Given the description of an element on the screen output the (x, y) to click on. 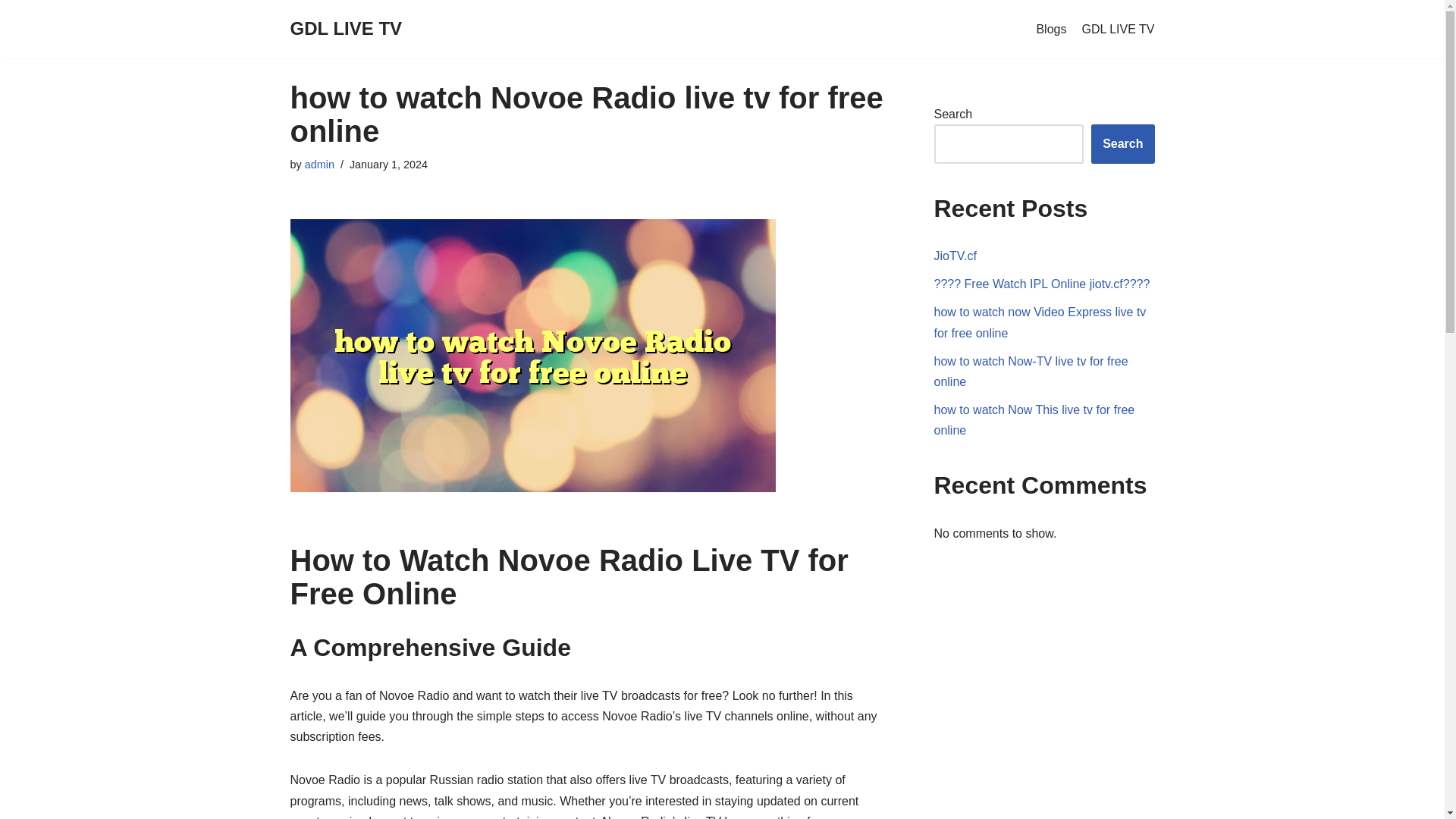
Posts by admin (319, 164)
GDL LIVE TV (345, 29)
JioTV.cf (955, 255)
???? Free Watch IPL Online jiotv.cf???? (1042, 283)
Blogs (1050, 29)
how to watch Now This live tv for free online (1034, 419)
GDL LIVE TV (1117, 29)
how to watch Now-TV live tv for free online (1031, 371)
Search (1122, 143)
admin (319, 164)
Skip to content (11, 31)
how to watch now Video Express live tv for free online (1040, 322)
